Given the description of an element on the screen output the (x, y) to click on. 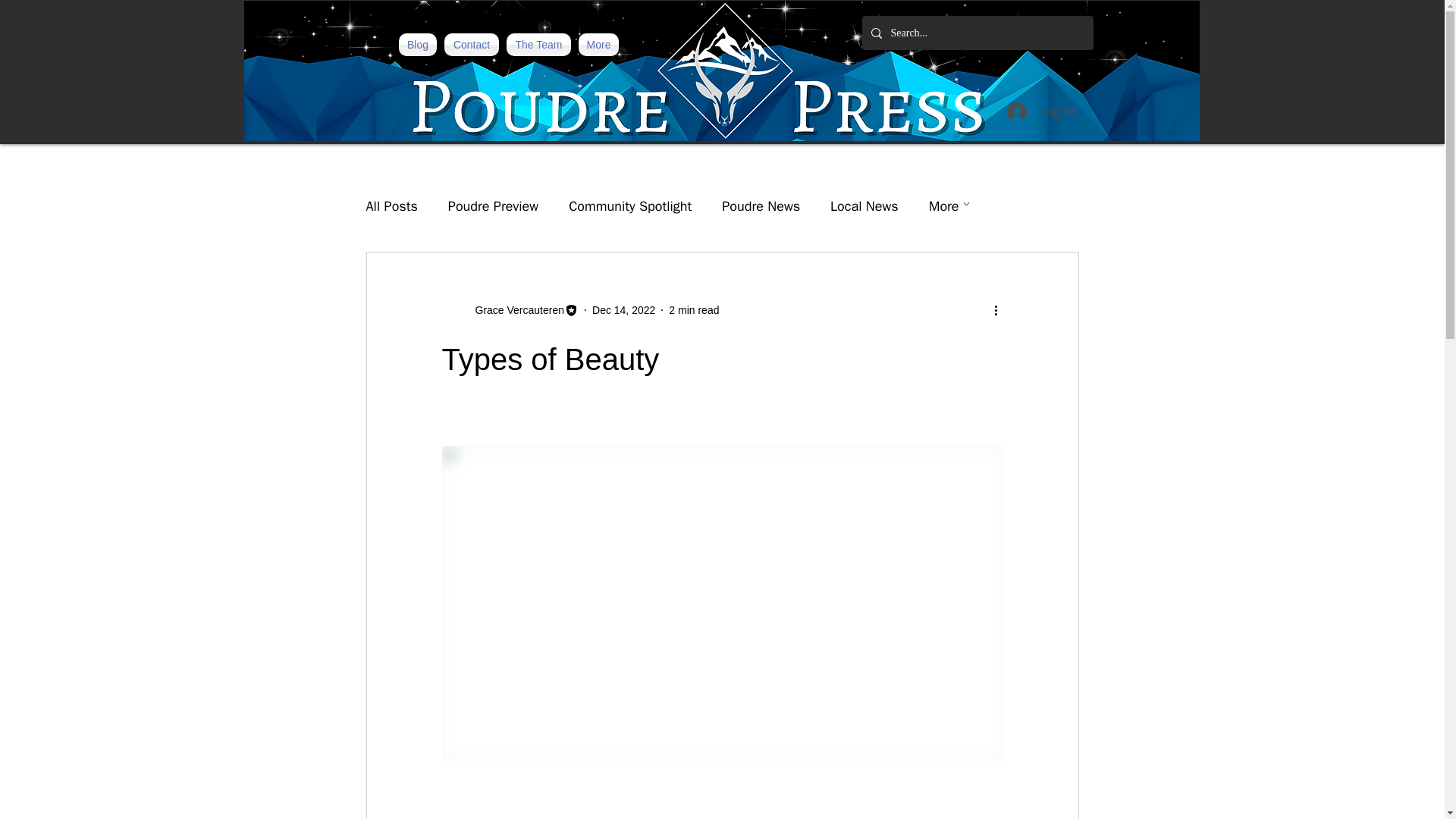
Poudre News (760, 206)
Contact (471, 44)
Community Spotlight (630, 206)
Poudre Preview (493, 206)
Grace Vercauteren (509, 310)
Dec 14, 2022 (623, 309)
Log In (1040, 111)
Local News (863, 206)
Grace Vercauteren (514, 309)
Blog (417, 44)
